Given the description of an element on the screen output the (x, y) to click on. 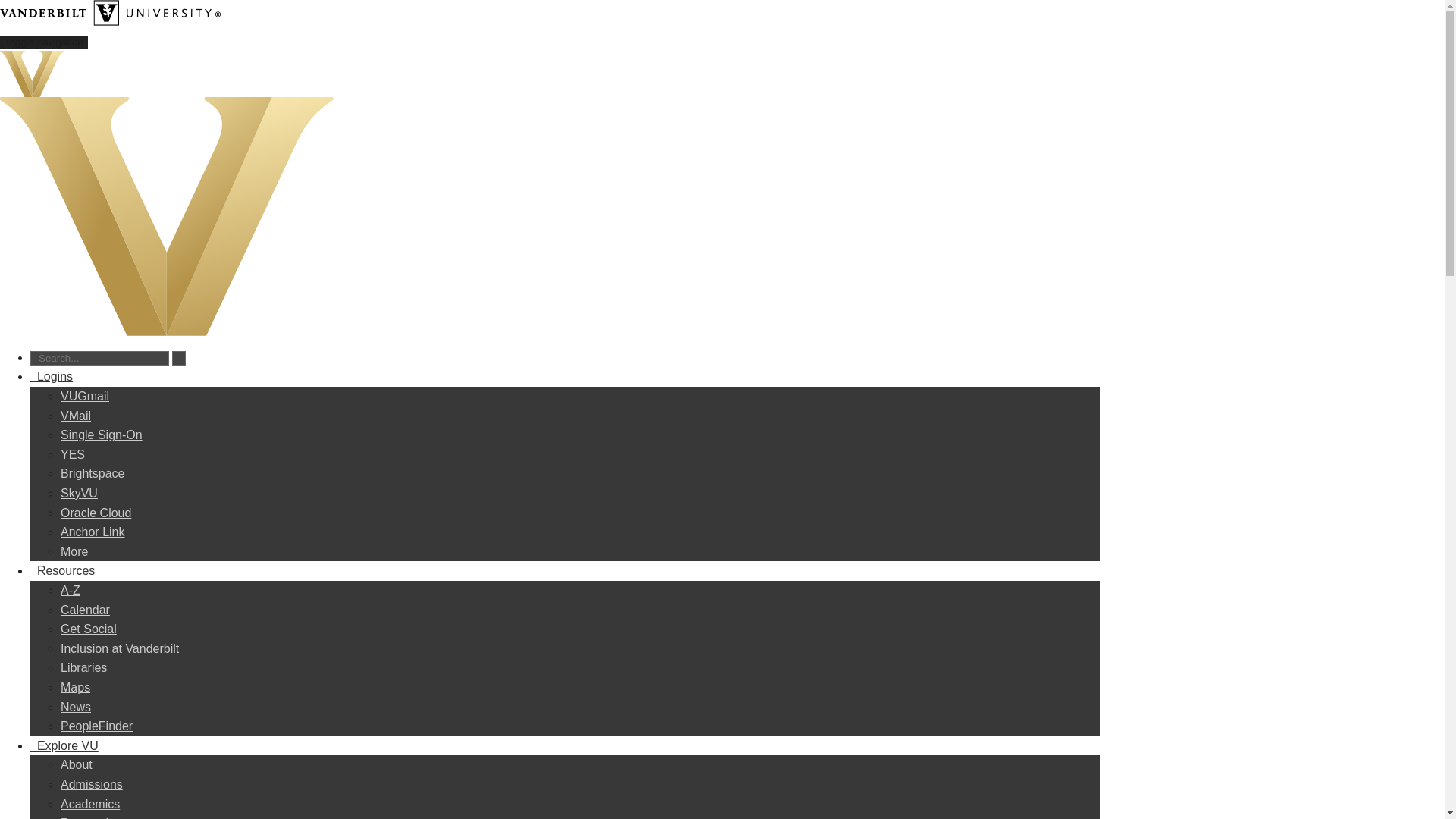
SkyVU (79, 492)
News (75, 707)
Academics (90, 803)
Brightspace (93, 472)
Admissions (91, 784)
Oracle Cloud (96, 512)
Inclusion at Vanderbilt (120, 648)
About (77, 764)
YES (72, 454)
A-Z (70, 590)
VUGmail (85, 395)
Libraries (83, 667)
Toggle navigation (43, 42)
Single Sign-On (101, 434)
